Given the description of an element on the screen output the (x, y) to click on. 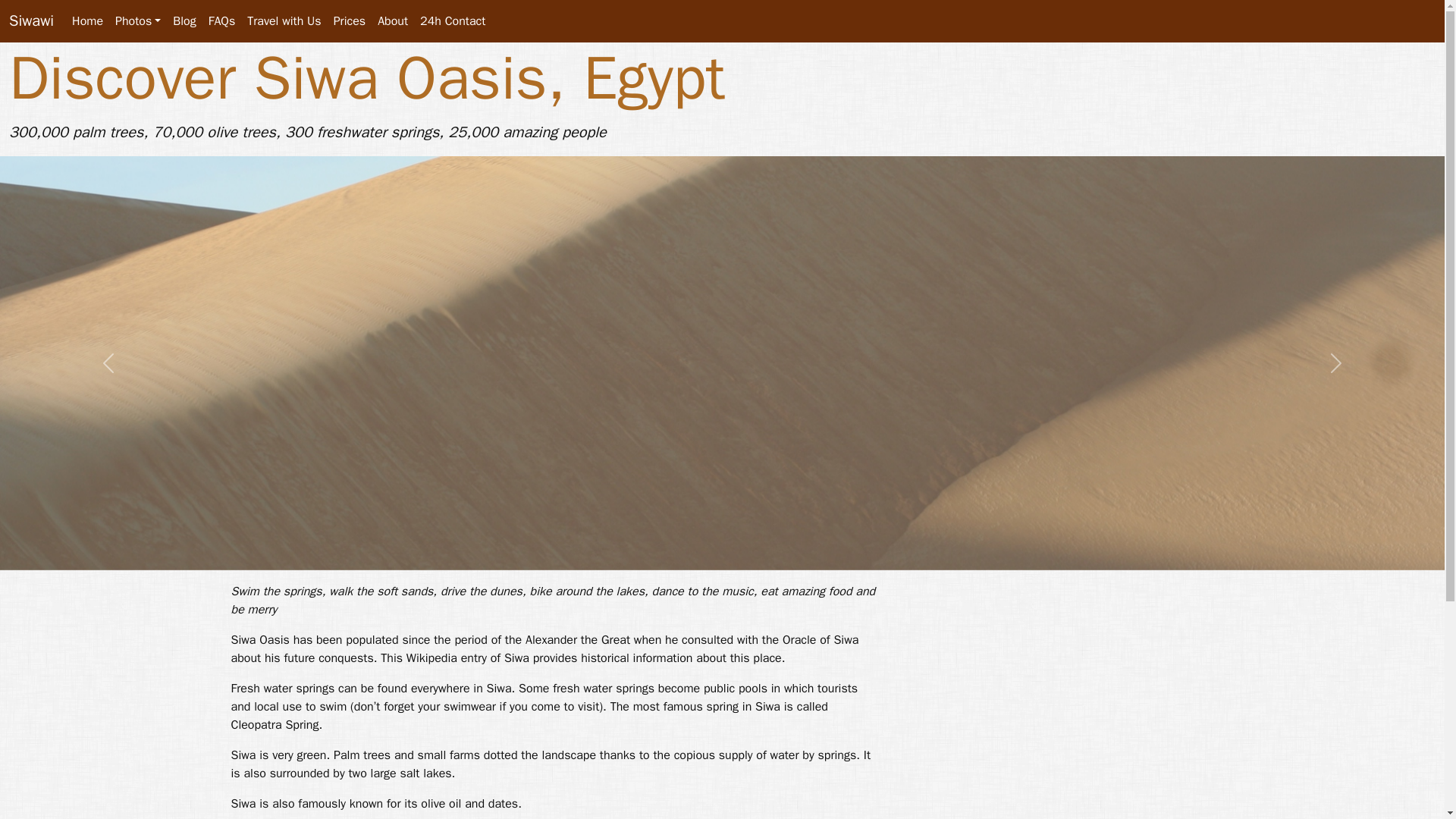
Siwawi (30, 20)
24h Contact (452, 20)
Travel with Us (283, 20)
Blog (184, 20)
Prices (349, 20)
Home (87, 20)
About (392, 20)
FAQs (221, 20)
Previous (108, 363)
Photos (138, 20)
